Given the description of an element on the screen output the (x, y) to click on. 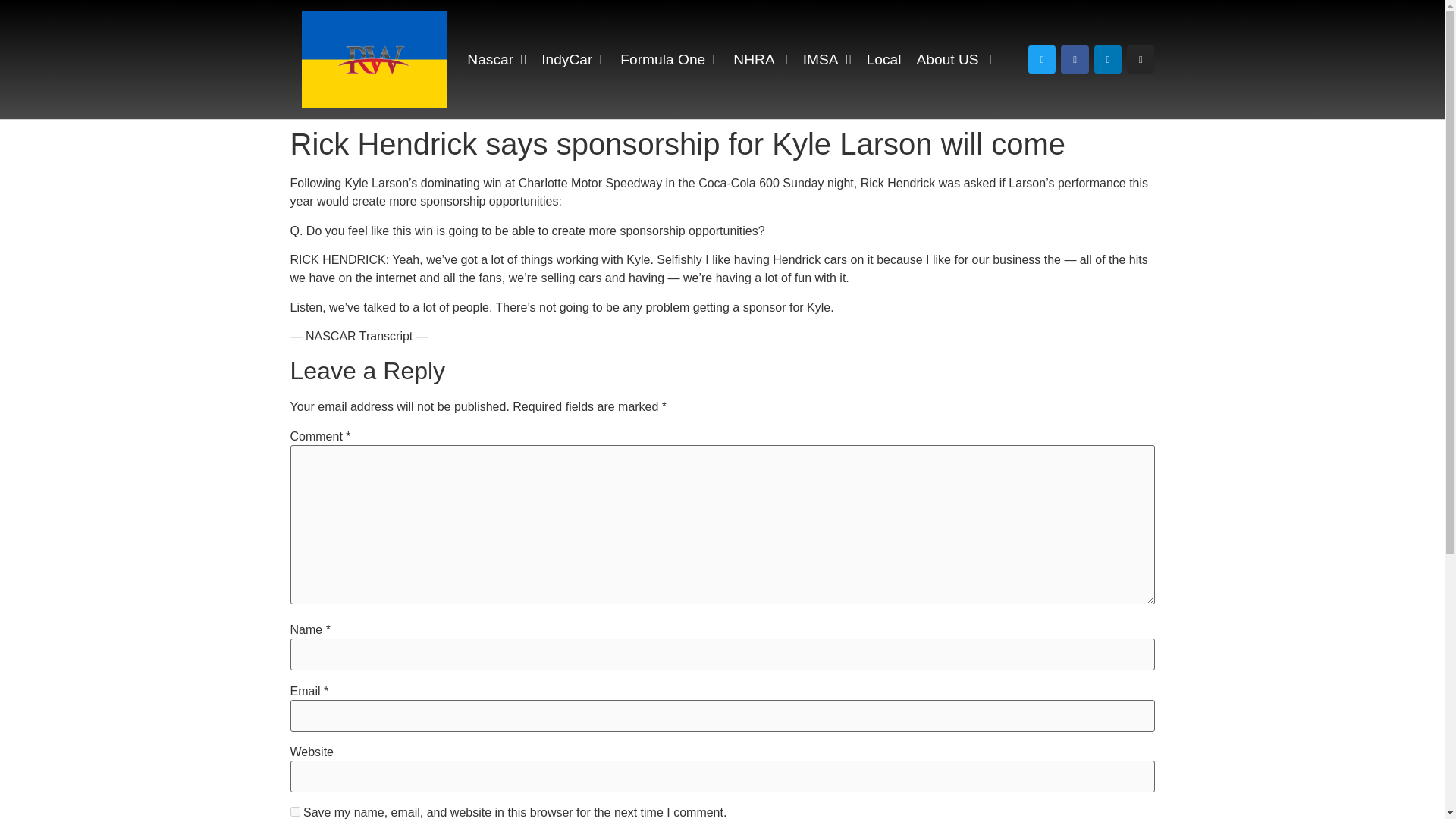
IndyCar (572, 59)
yes (294, 811)
Nascar (496, 59)
